Given the description of an element on the screen output the (x, y) to click on. 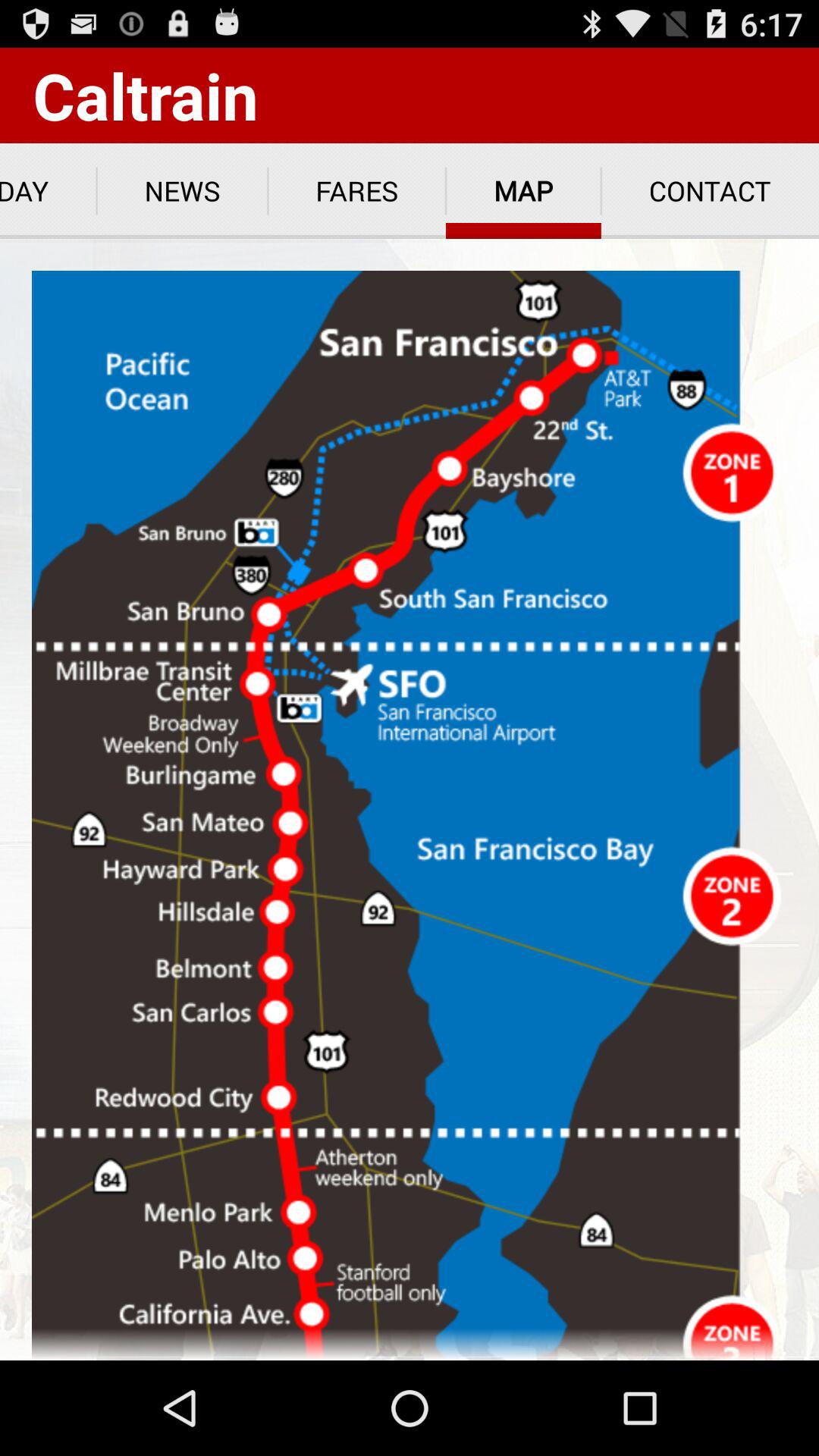
open contact at the top right corner (710, 190)
